Given the description of an element on the screen output the (x, y) to click on. 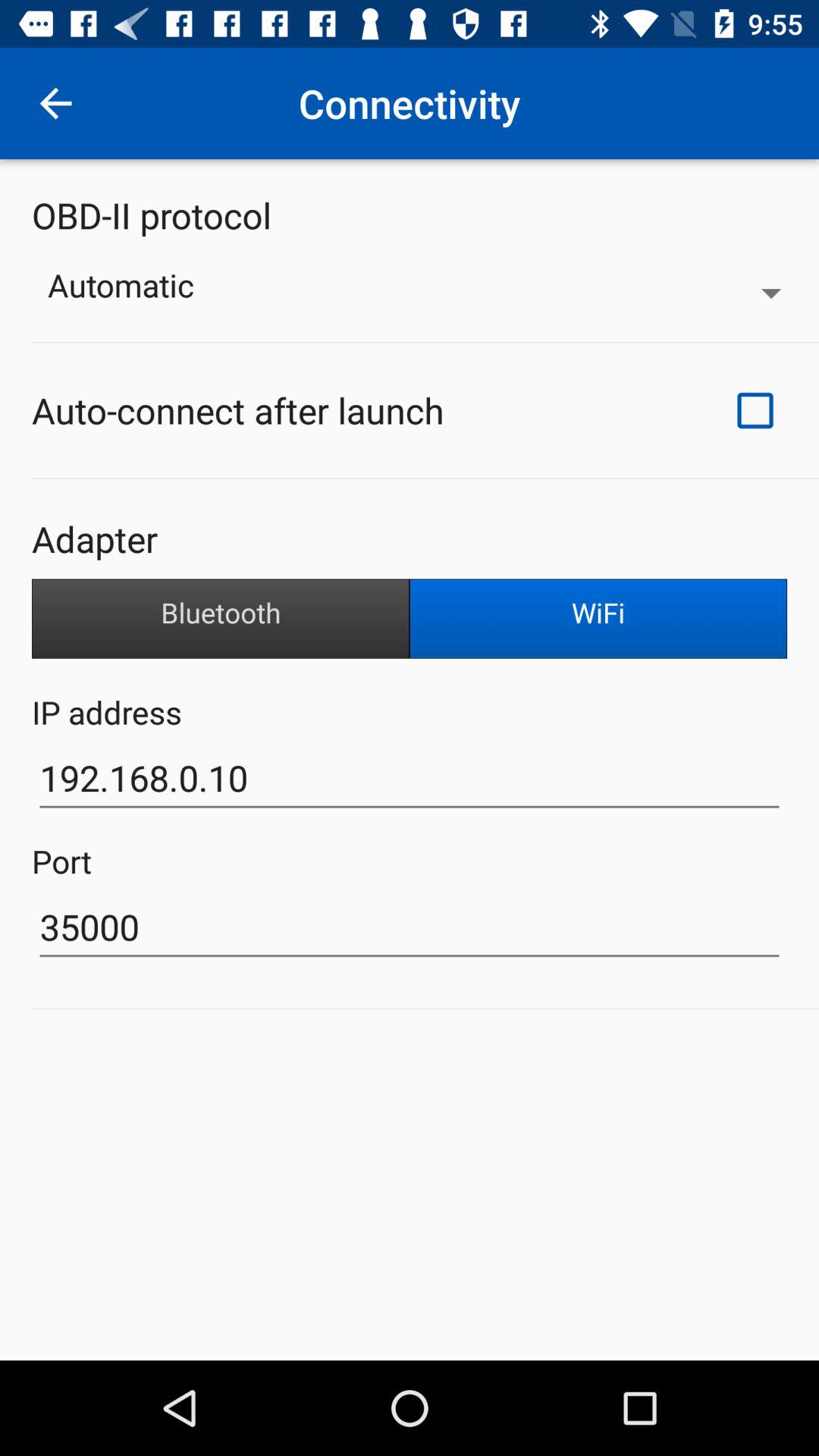
check option for auto-connect (755, 410)
